Given the description of an element on the screen output the (x, y) to click on. 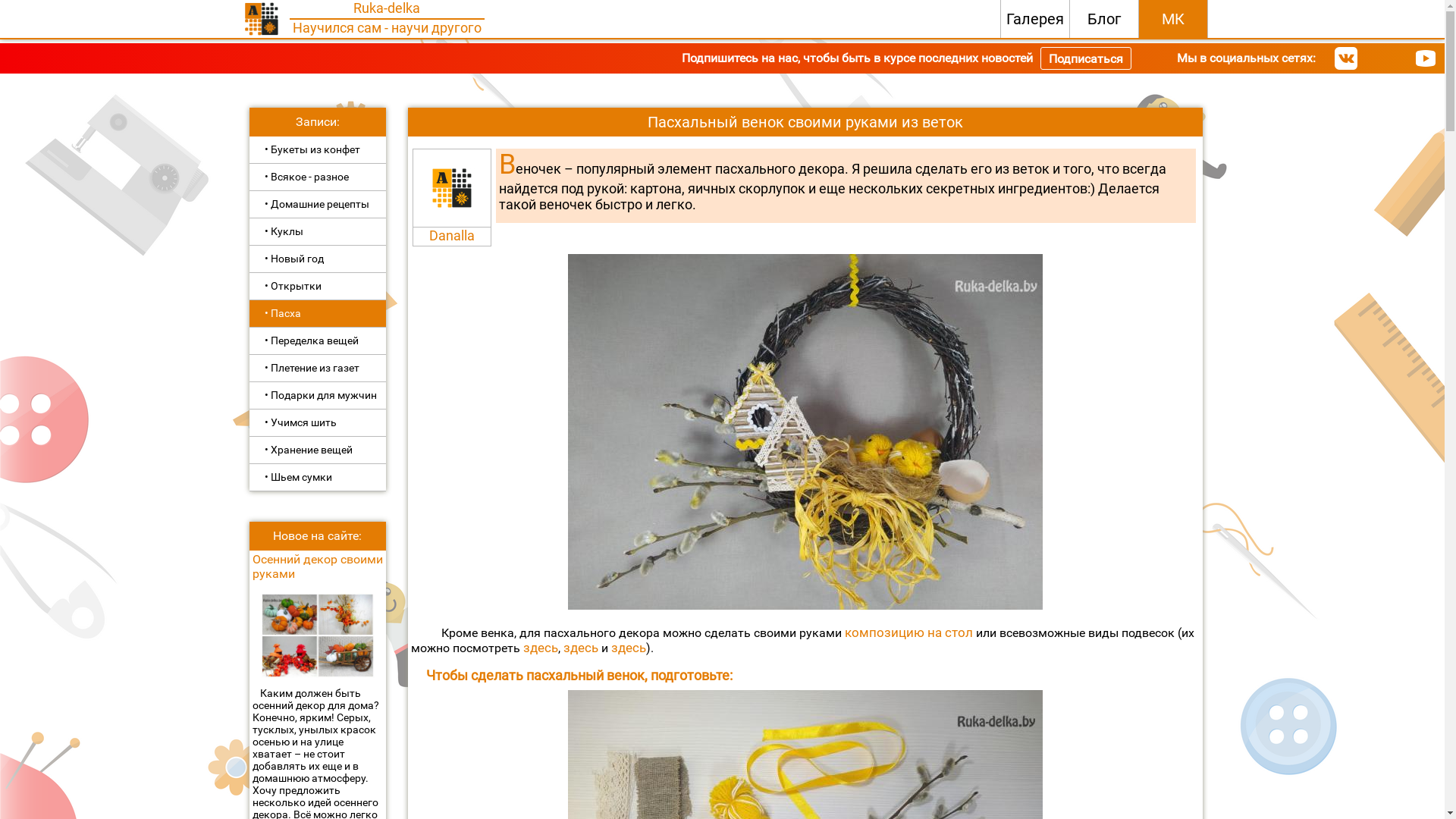
Danalla Element type: text (451, 235)
Youtube Element type: hover (1425, 58)
Facebook Element type: hover (1398, 58)
